Given the description of an element on the screen output the (x, y) to click on. 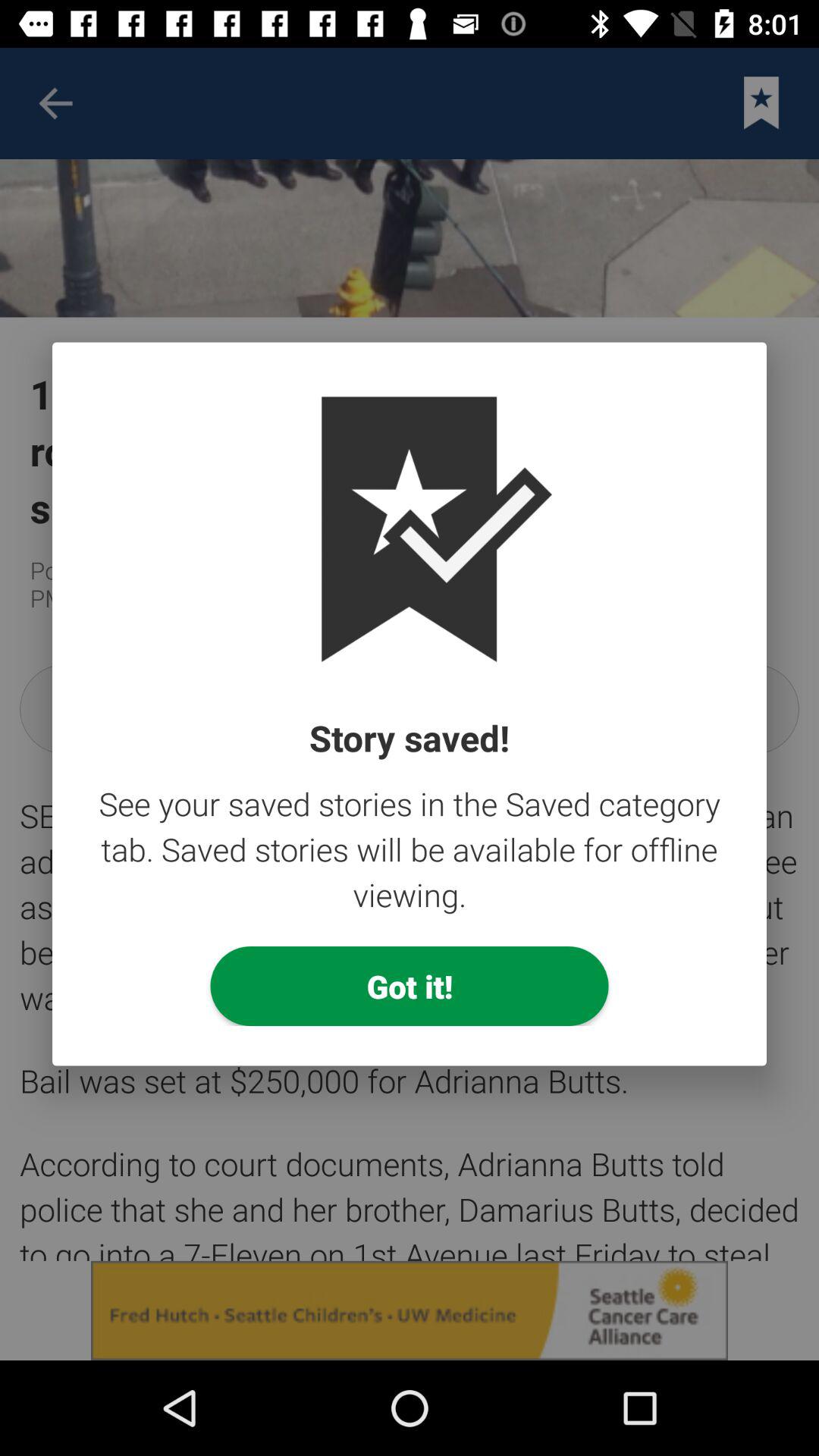
turn off the item below see your saved item (409, 986)
